Given the description of an element on the screen output the (x, y) to click on. 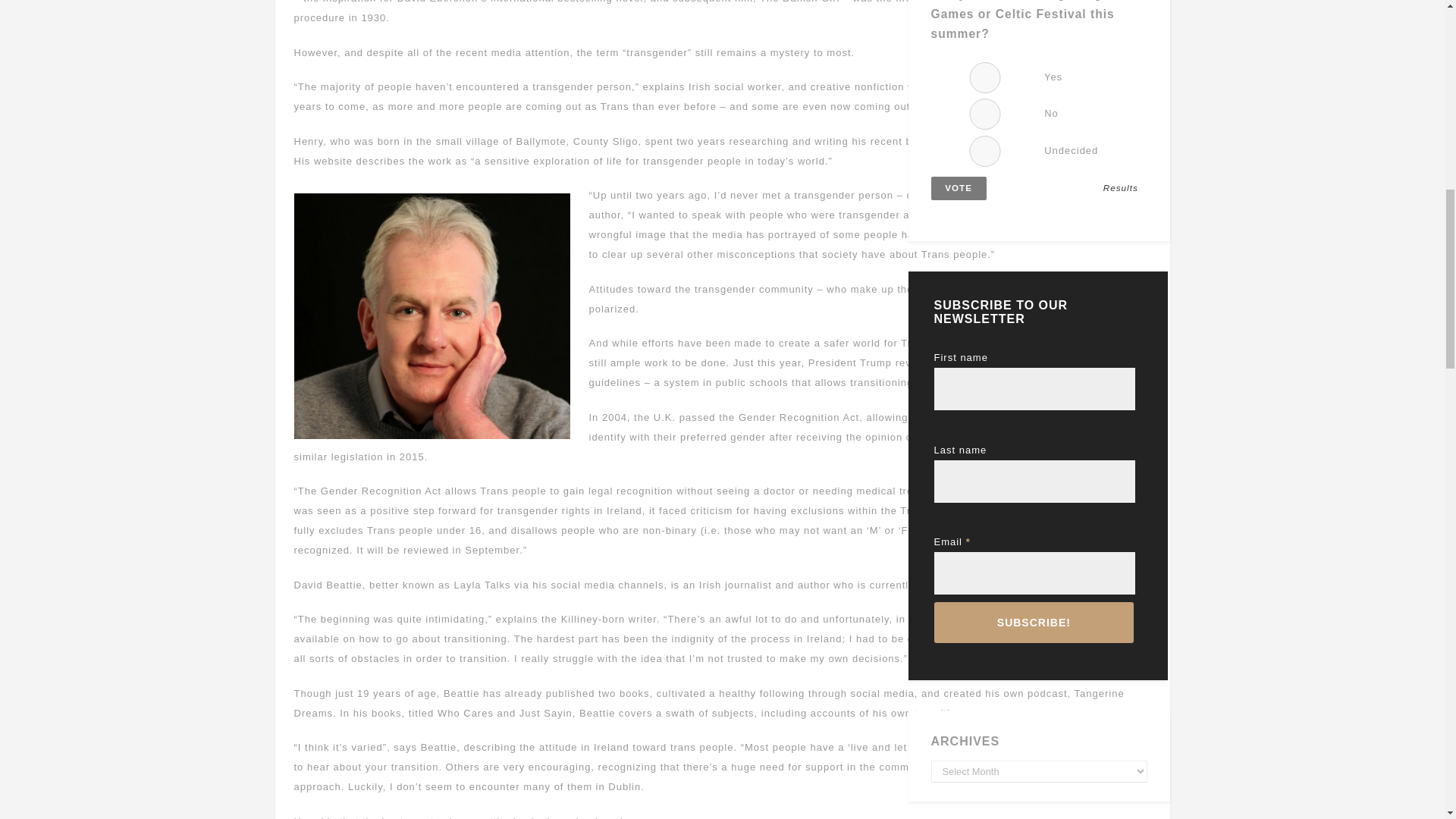
Subscribe! (1034, 621)
330 (985, 151)
Vote (959, 187)
329 (985, 113)
328 (985, 77)
